Given the description of an element on the screen output the (x, y) to click on. 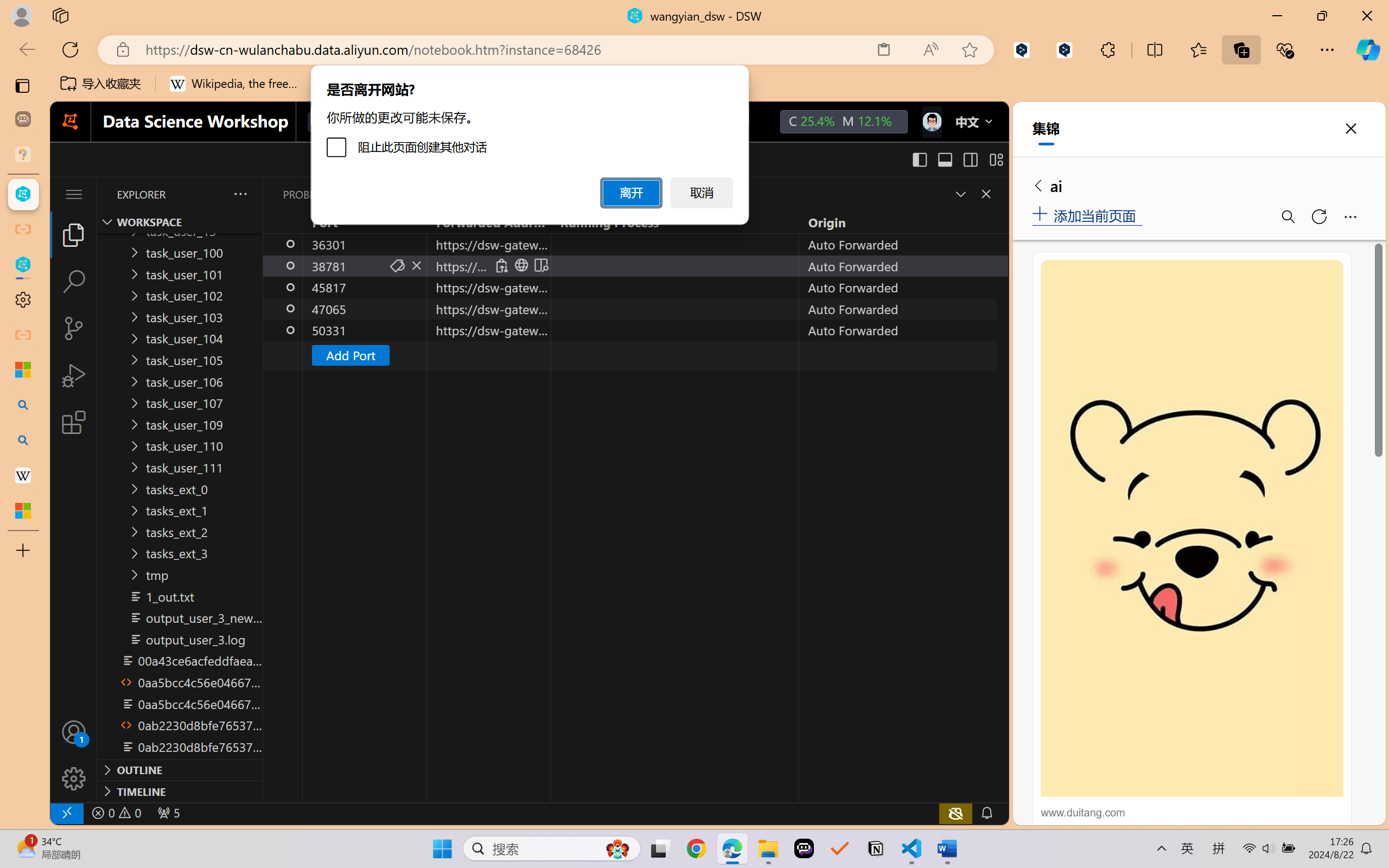
Toggle Panel (Ctrl+J) (944, 159)
Class: menubar compact overflow-menu-only (73, 194)
Explorer (Ctrl+Shift+E) (73, 234)
Toggle Primary Side Bar (Ctrl+B) (919, 159)
Toggle Secondary Side Bar (Ctrl+Alt+B) (969, 159)
